Given the description of an element on the screen output the (x, y) to click on. 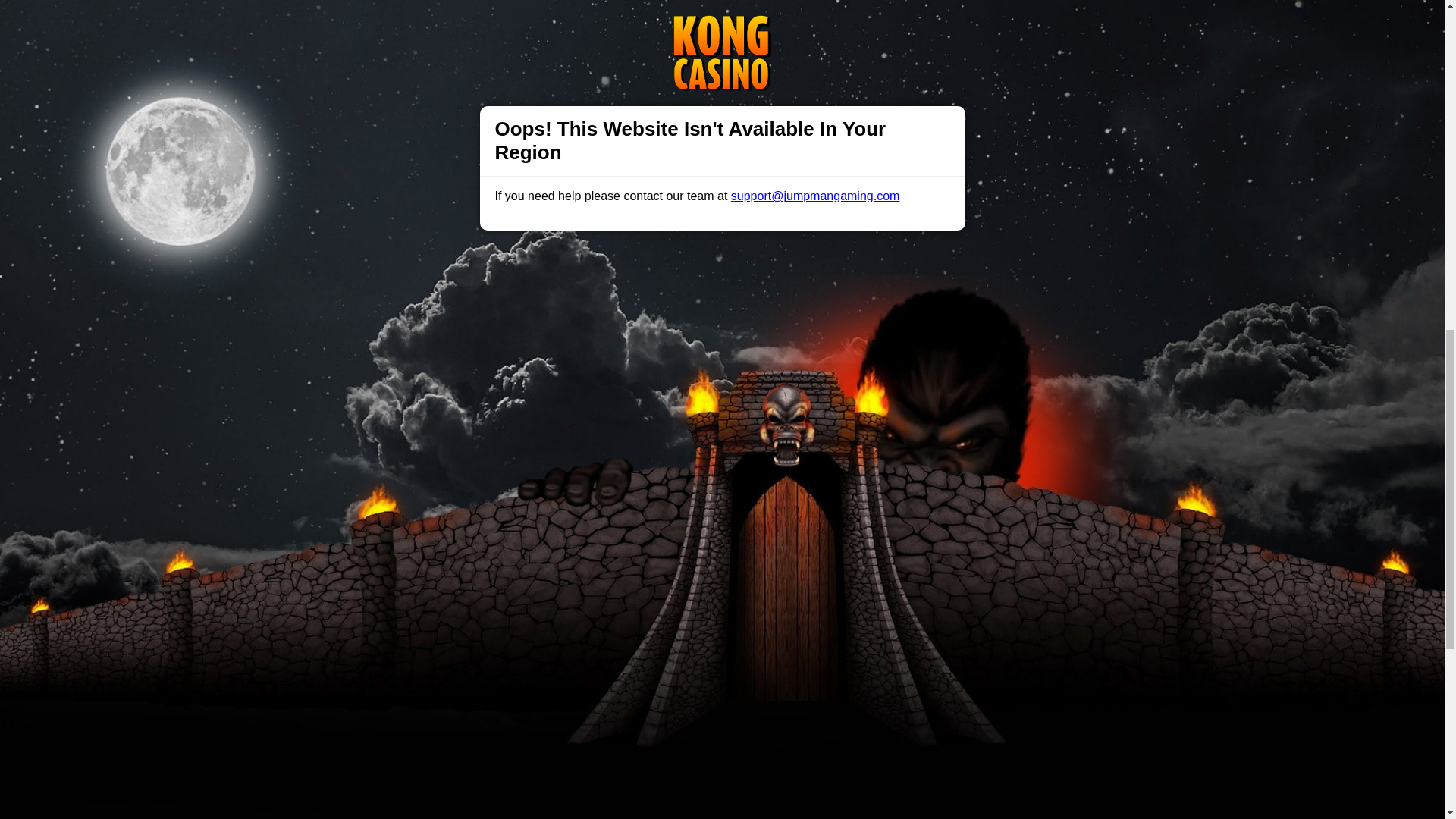
Back To All Games (721, 798)
Back To All Games (722, 798)
